Given the description of an element on the screen output the (x, y) to click on. 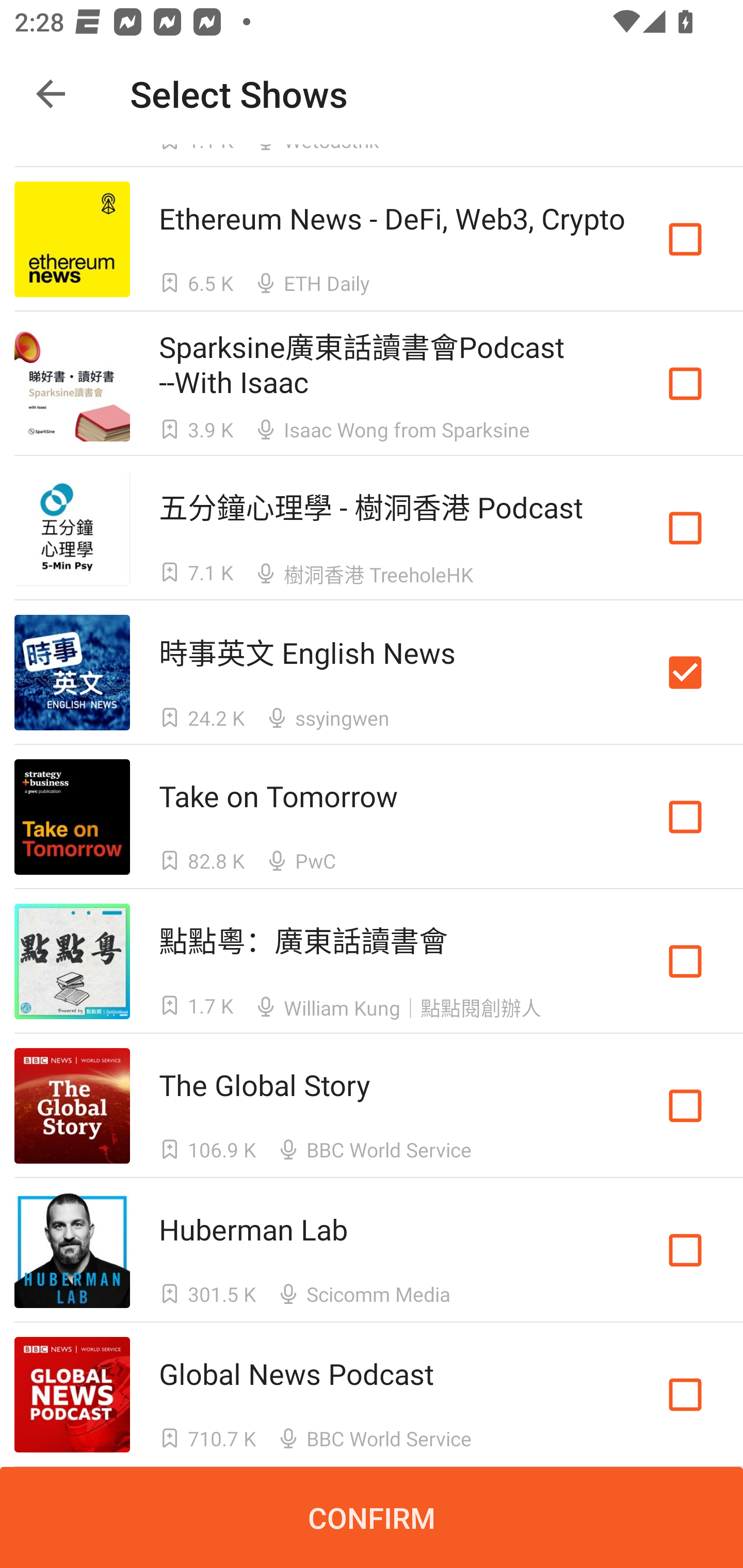
Navigate up (50, 93)
Take on Tomorrow Take on Tomorrow  82.8 K  PwC (371, 816)
CONFIRM (371, 1517)
